Given the description of an element on the screen output the (x, y) to click on. 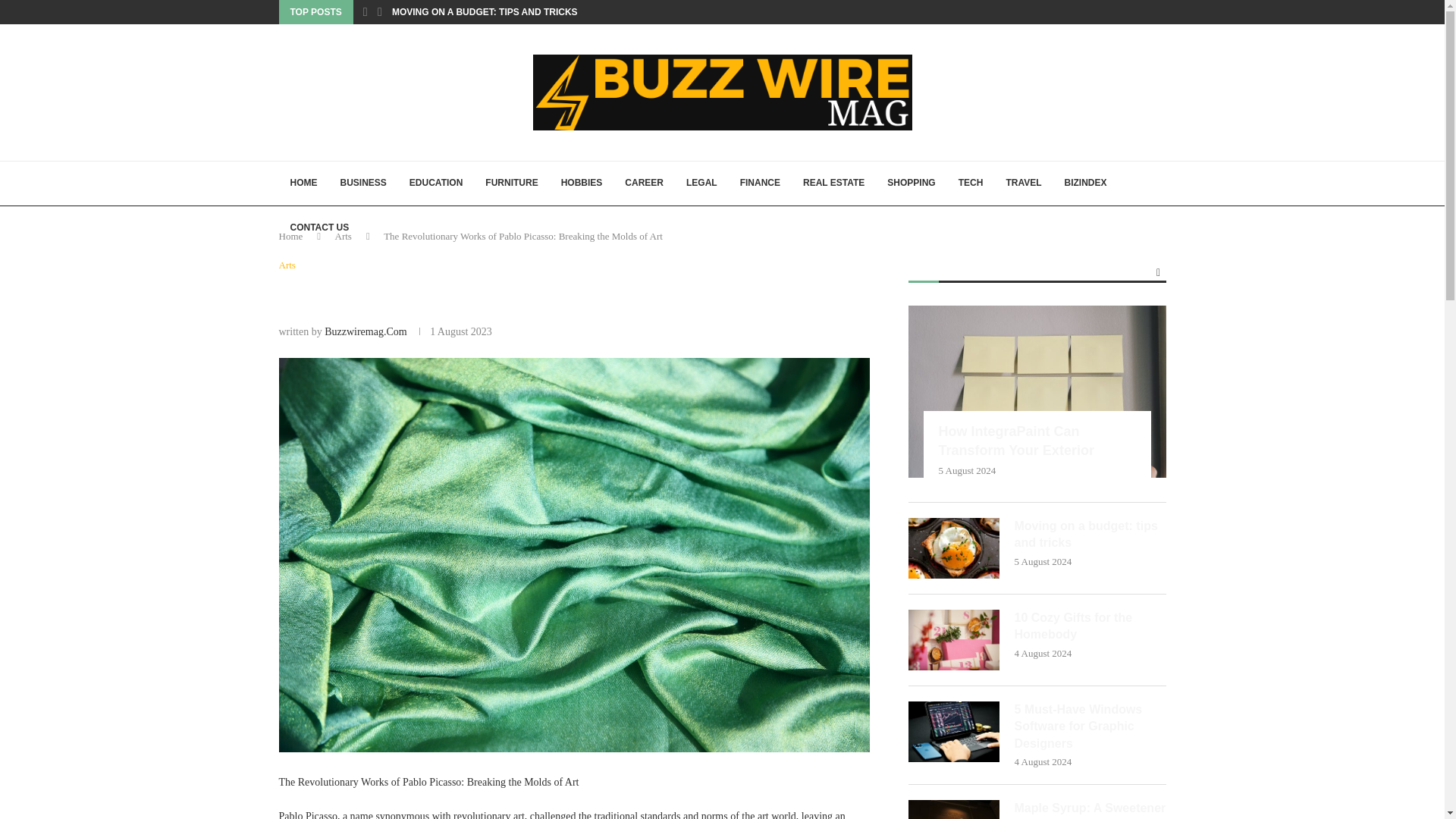
LEGAL (702, 183)
HOME (304, 183)
FURNITURE (511, 183)
EDUCATION (435, 183)
HOBBIES (582, 183)
TRAVEL (1023, 183)
BIZINDEX (1085, 183)
CAREER (643, 183)
CONTACT US (320, 227)
TECH (970, 183)
REAL ESTATE (834, 183)
FINANCE (760, 183)
MOVING ON A BUDGET: TIPS AND TRICKS (484, 12)
BUSINESS (363, 183)
